Given the description of an element on the screen output the (x, y) to click on. 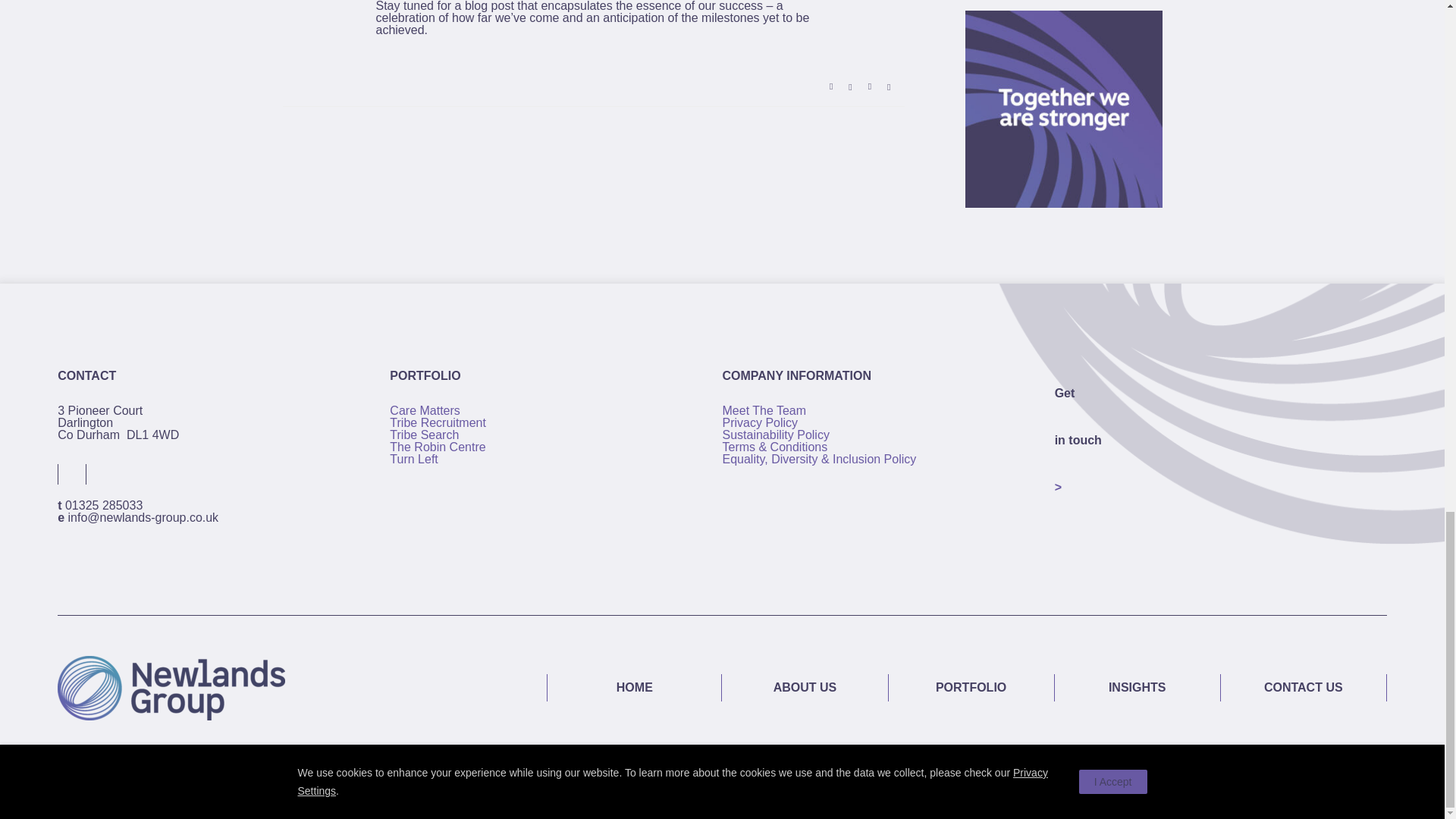
The Robin Centre (437, 446)
Sustainability Policy (775, 434)
Tribe Search (424, 434)
Privacy Policy (759, 422)
Tribe Recruitment (438, 422)
Turn Left (414, 459)
Care Matters (425, 410)
Meet The Team (764, 410)
